Given the description of an element on the screen output the (x, y) to click on. 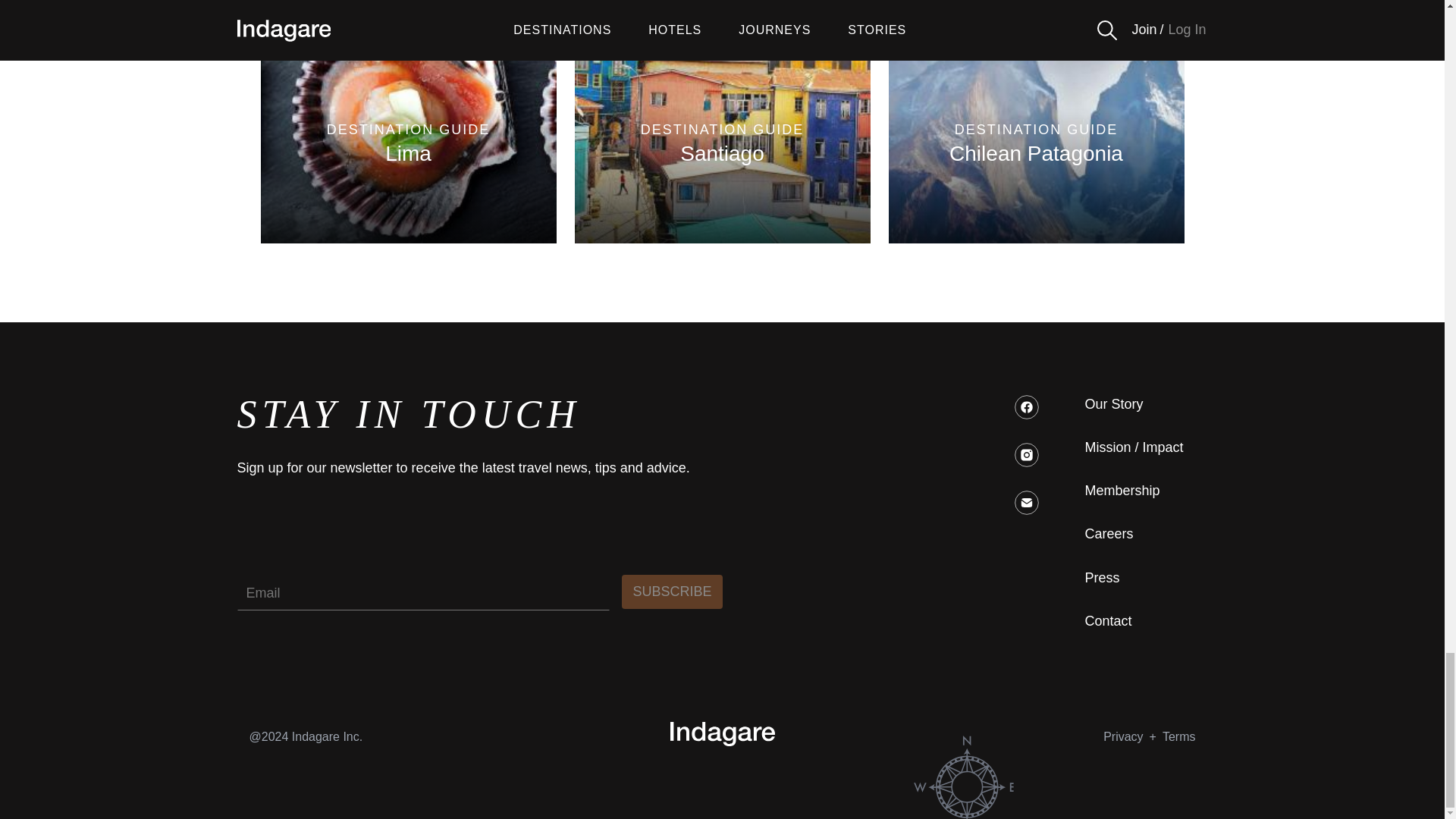
Our Story (722, 144)
SUBSCRIBE (1113, 404)
Membership (671, 591)
